Given the description of an element on the screen output the (x, y) to click on. 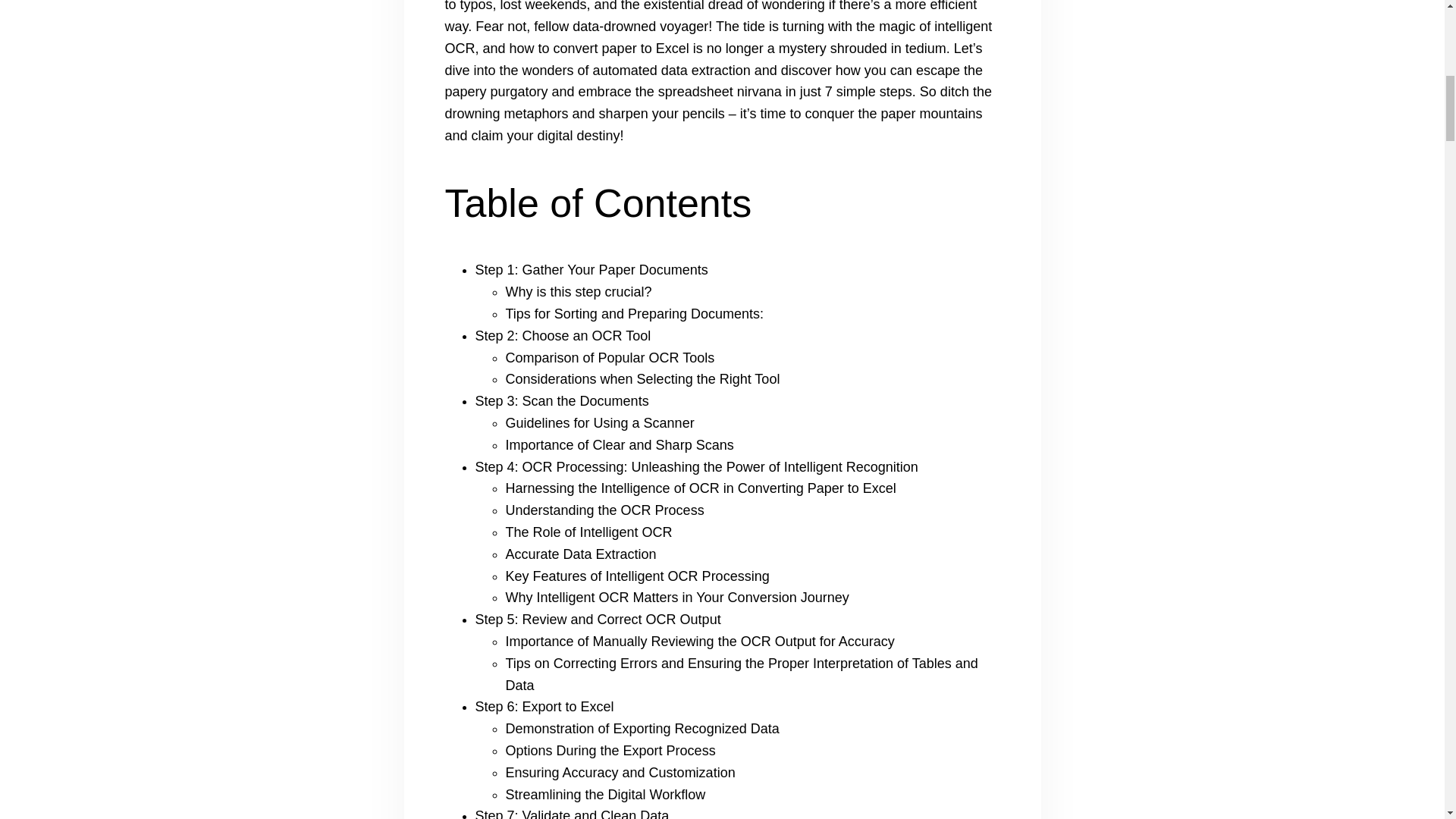
Why is this step crucial? (577, 291)
Importance of Clear and Sharp Scans (619, 444)
Guidelines for Using a Scanner (599, 422)
Accurate Data Extraction (580, 554)
Step 1: Gather Your Paper Documents (590, 269)
Understanding the OCR Process (604, 509)
Considerations when Selecting the Right Tool (641, 378)
Comparison of Popular OCR Tools (609, 357)
